Given the description of an element on the screen output the (x, y) to click on. 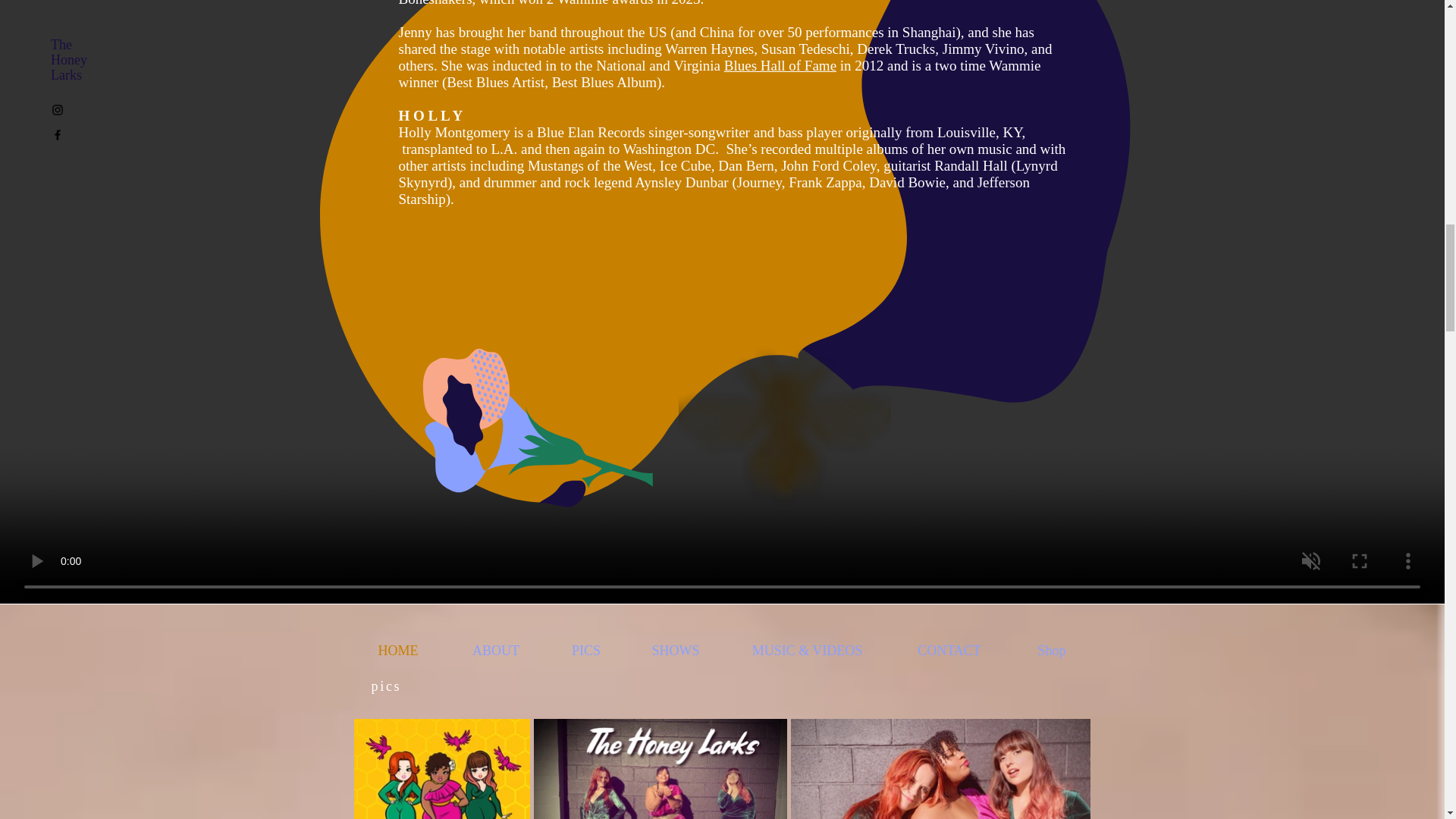
PICS (586, 650)
Shop (1052, 650)
SHOWS (675, 650)
HOME (397, 650)
ABOUT (496, 650)
CONTACT (948, 650)
